Given the description of an element on the screen output the (x, y) to click on. 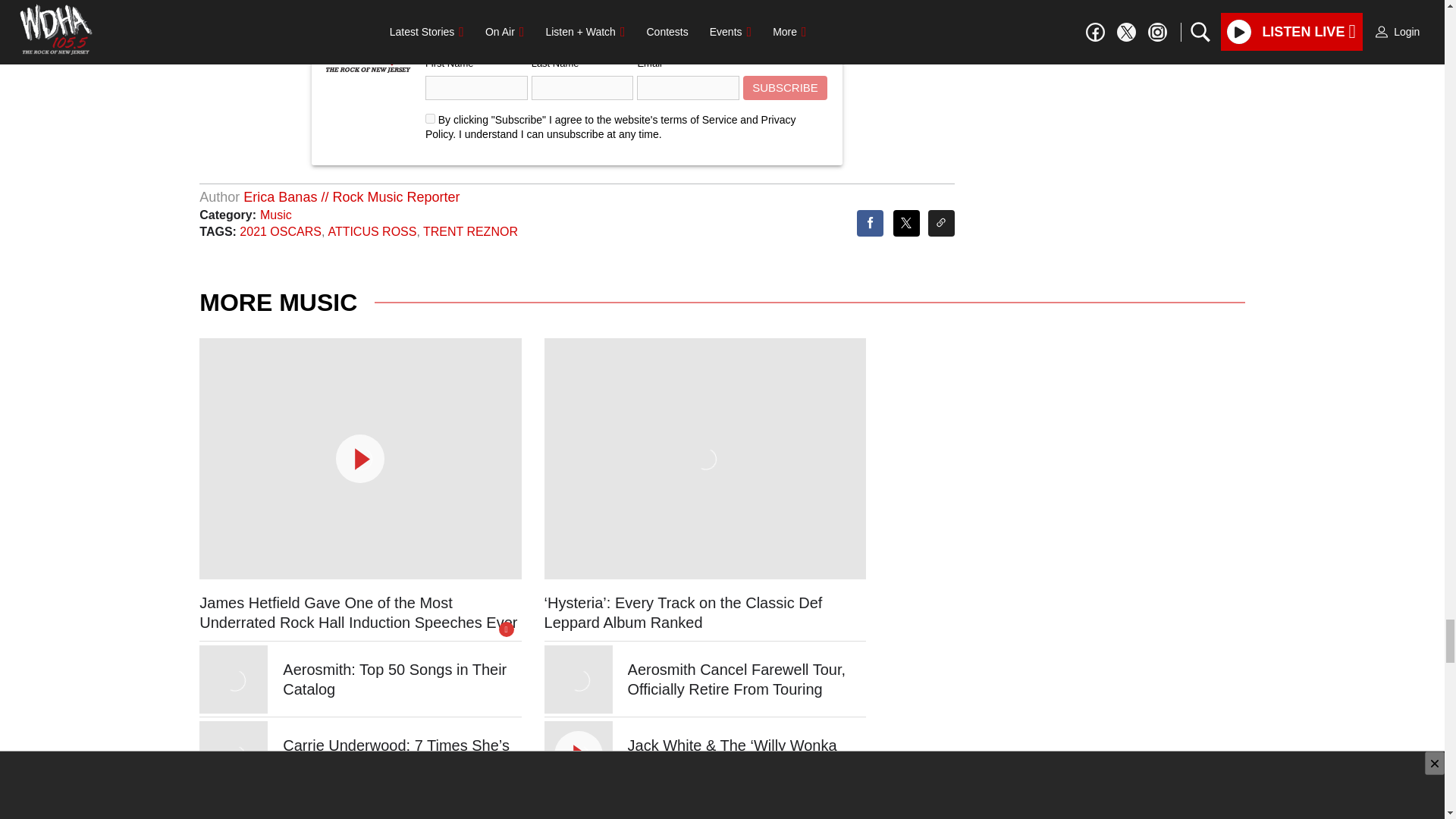
on (430, 118)
